Given the description of an element on the screen output the (x, y) to click on. 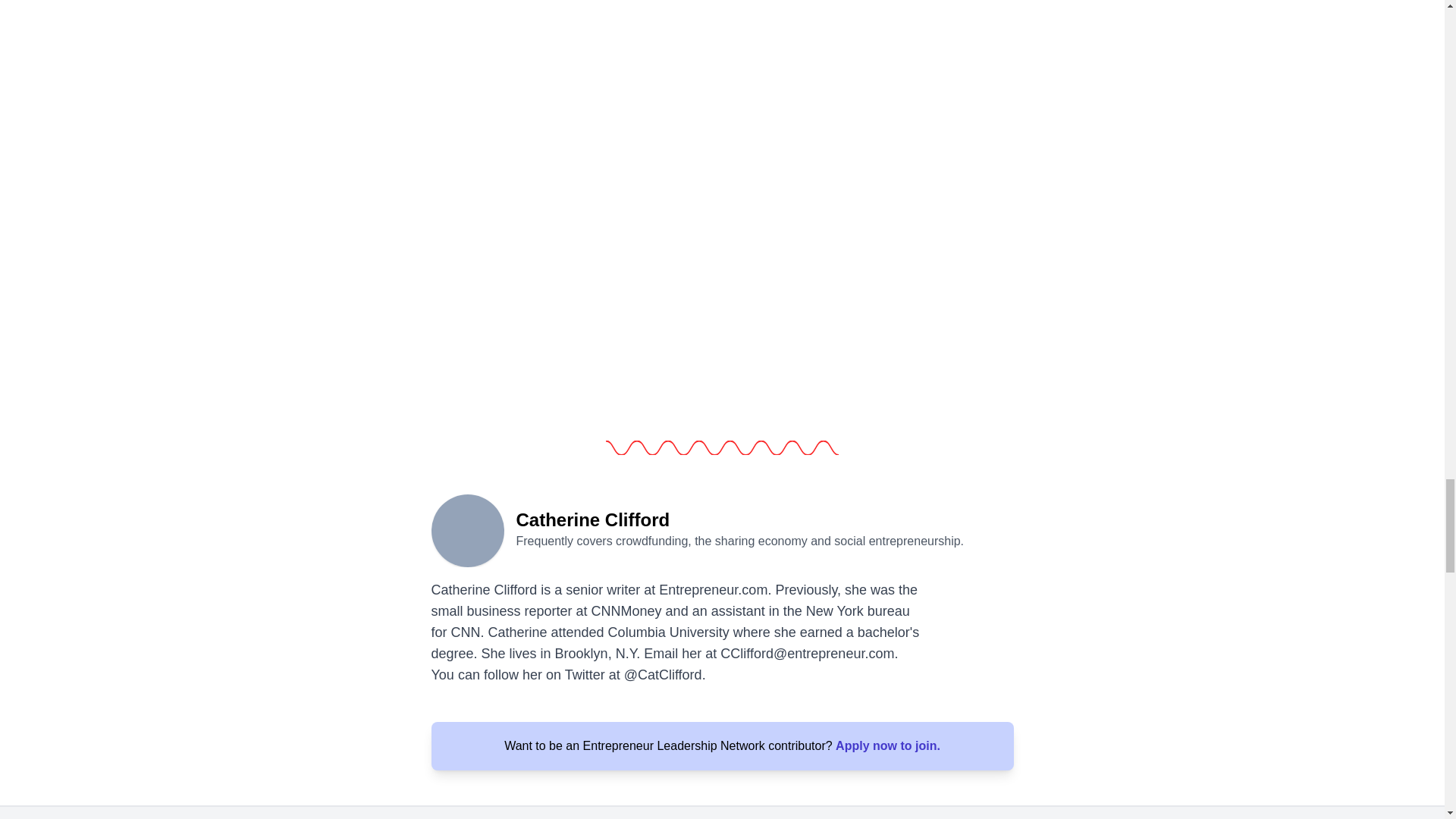
Catherine Clifford (466, 529)
